Given the description of an element on the screen output the (x, y) to click on. 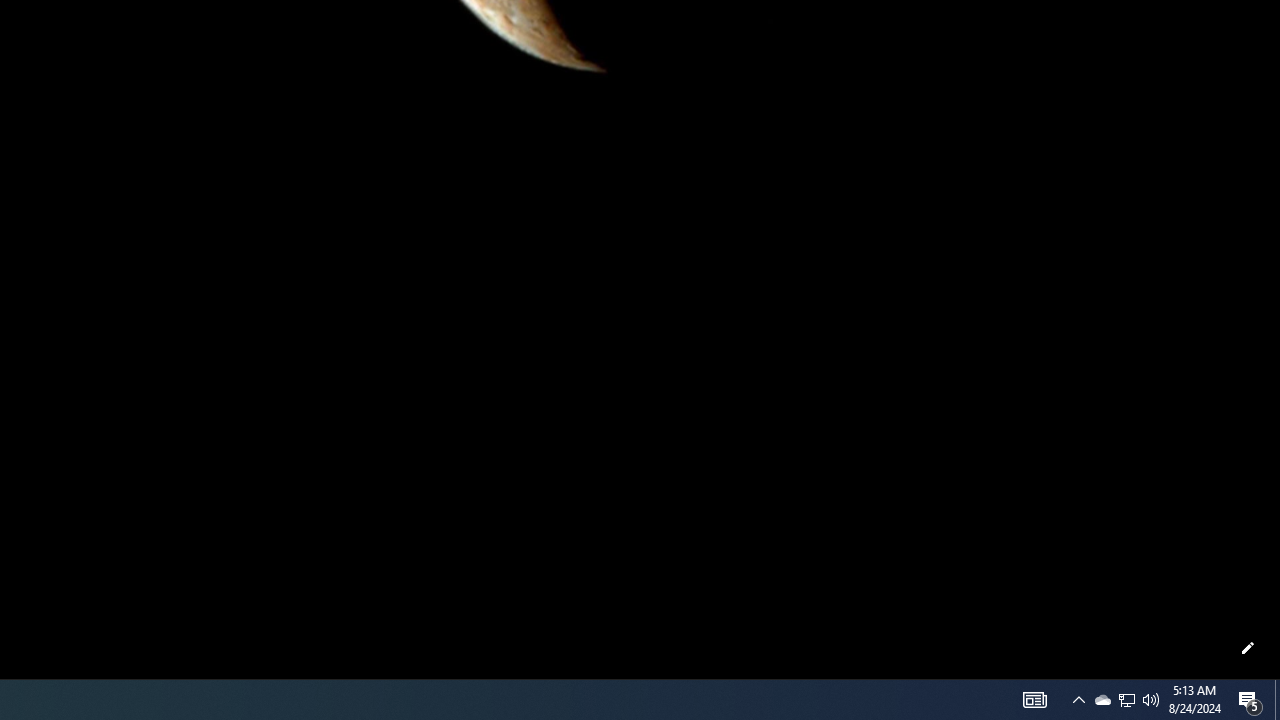
Customize this page (1247, 647)
